Given the description of an element on the screen output the (x, y) to click on. 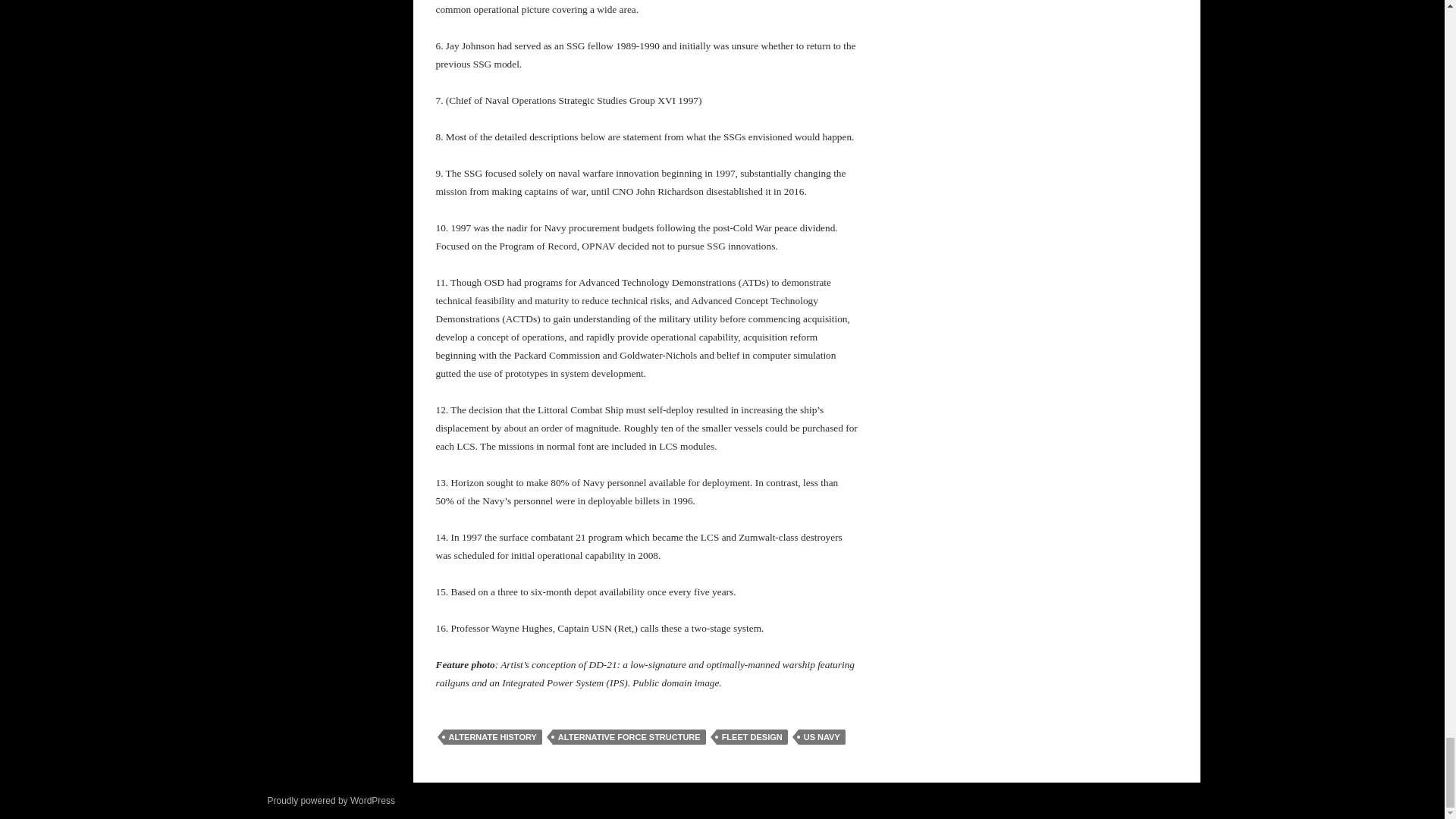
ALTERNATIVE FORCE STRUCTURE (629, 736)
FLEET DESIGN (751, 736)
US NAVY (821, 736)
ALTERNATE HISTORY (491, 736)
